Given the description of an element on the screen output the (x, y) to click on. 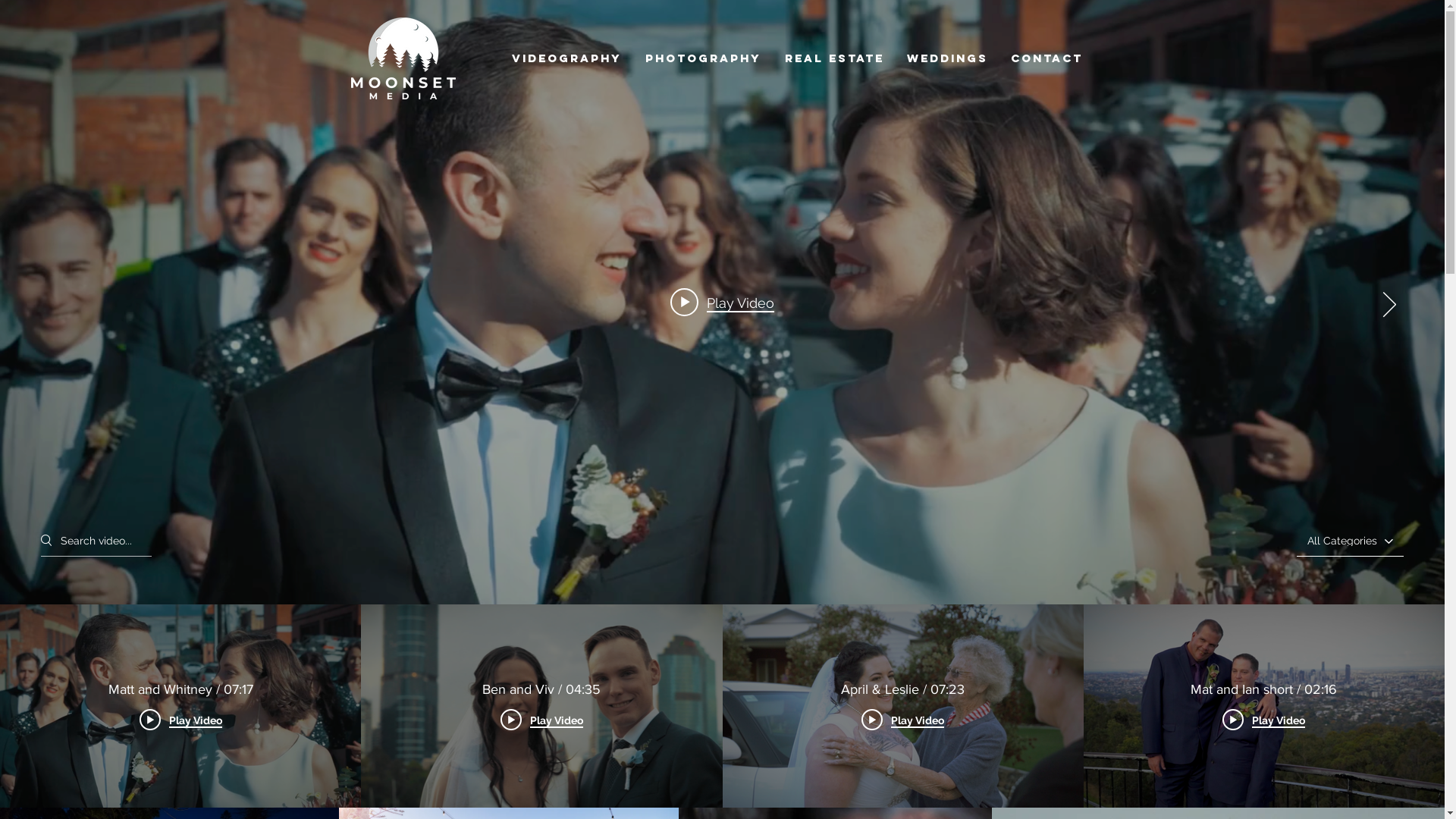
Play Video Element type: text (541, 719)
CONTACT Element type: text (1046, 58)
Play Video Element type: text (180, 719)
Play Video Element type: text (1263, 719)
WEDDINGS Element type: text (946, 58)
PHOTOGRAPHY Element type: text (703, 58)
VIDEOGRAPHY Element type: text (566, 58)
Play Video Element type: text (902, 719)
REAL ESTATE Element type: text (834, 58)
Play Video Element type: text (722, 302)
